Given the description of an element on the screen output the (x, y) to click on. 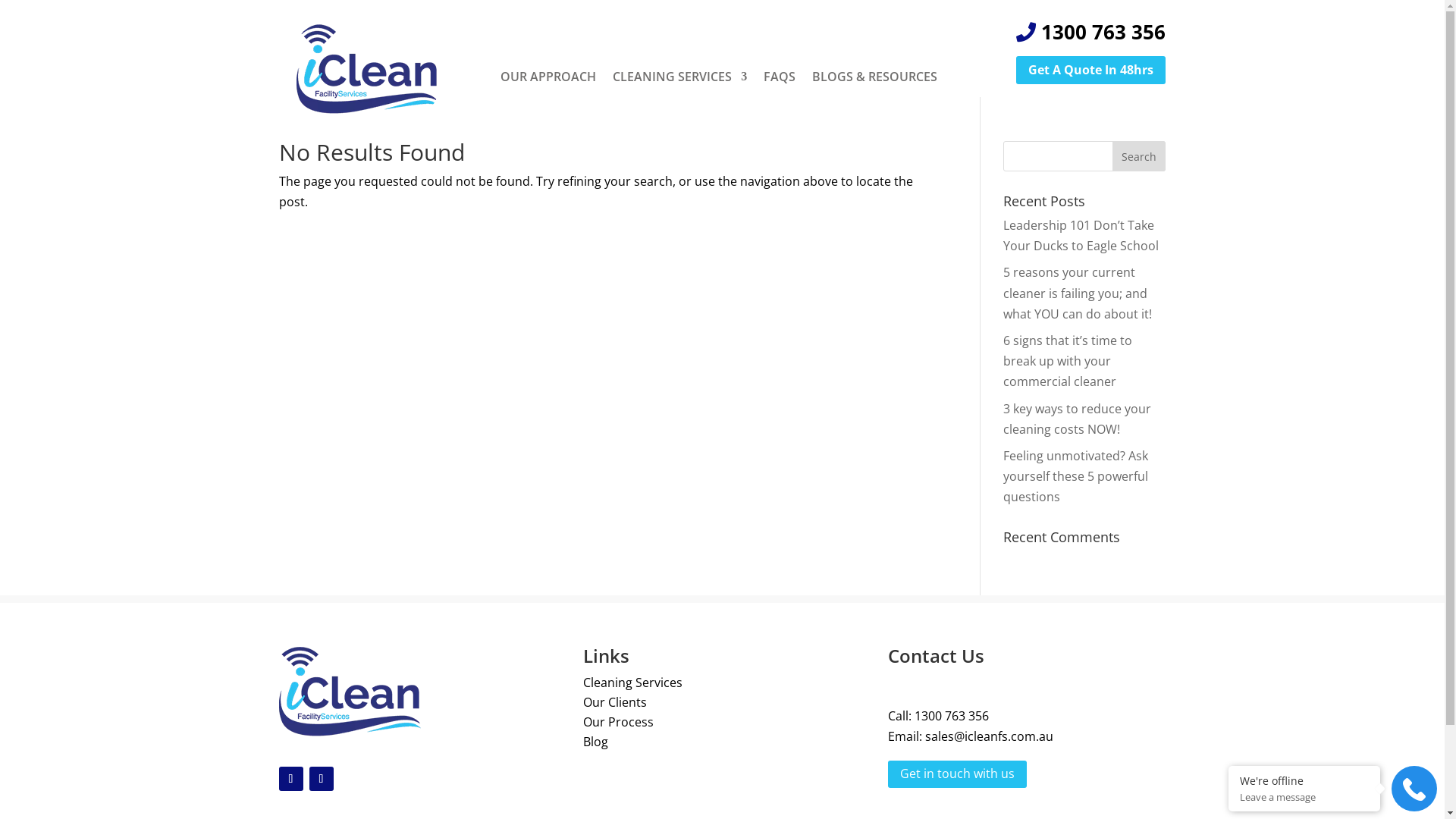
Cleaning Services Element type: text (632, 682)
BLOGS & RESOURCES Element type: text (874, 76)
Follow on LinkedIn Element type: hover (321, 778)
Our Clients Element type: text (614, 701)
Feeling unmotivated? Ask yourself these 5 powerful questions Element type: text (1075, 476)
Get in touch with us Element type: text (957, 774)
FAQS Element type: text (779, 76)
Get A Quote In 48hrs Element type: text (1090, 70)
Our Process Element type: text (618, 721)
iclean-logo-footer Element type: hover (349, 691)
CLEANING SERVICES Element type: text (679, 76)
Follow on Youtube Element type: hover (291, 778)
Contact Us Element type: text (936, 655)
Blog Element type: text (595, 741)
OUR APPROACH Element type: text (548, 76)
3 key ways to reduce your cleaning costs NOW! Element type: text (1077, 418)
Search Element type: text (1138, 156)
